Given the description of an element on the screen output the (x, y) to click on. 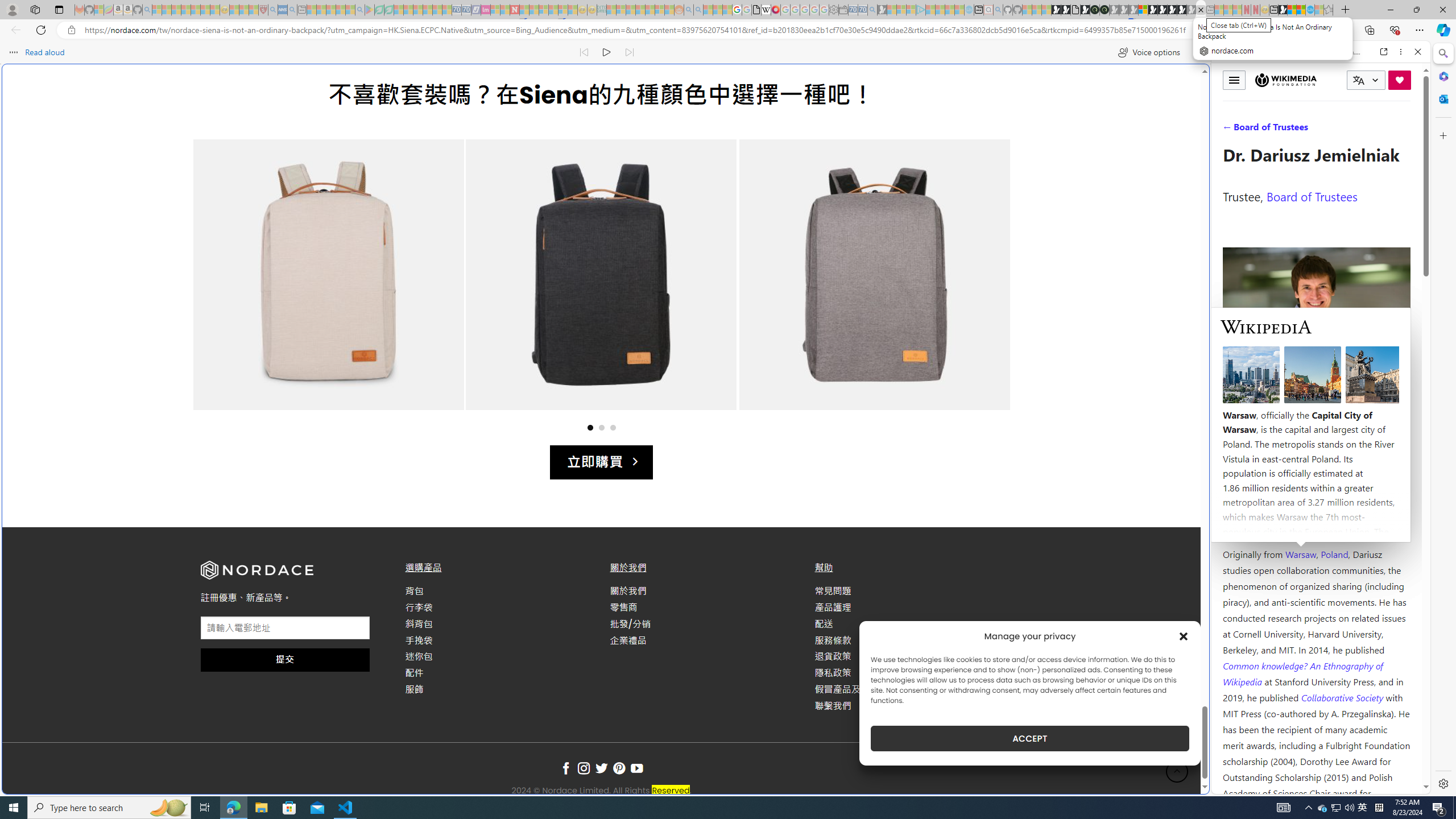
Common knowledge? An Ethnography of Wikipedia (1302, 672)
Follow on Twitter (601, 768)
Search or enter web address (922, 108)
Target page - Wikipedia (766, 9)
Collaborative Society  (1343, 697)
CURRENT LANGUAGE: (1366, 80)
